Given the description of an element on the screen output the (x, y) to click on. 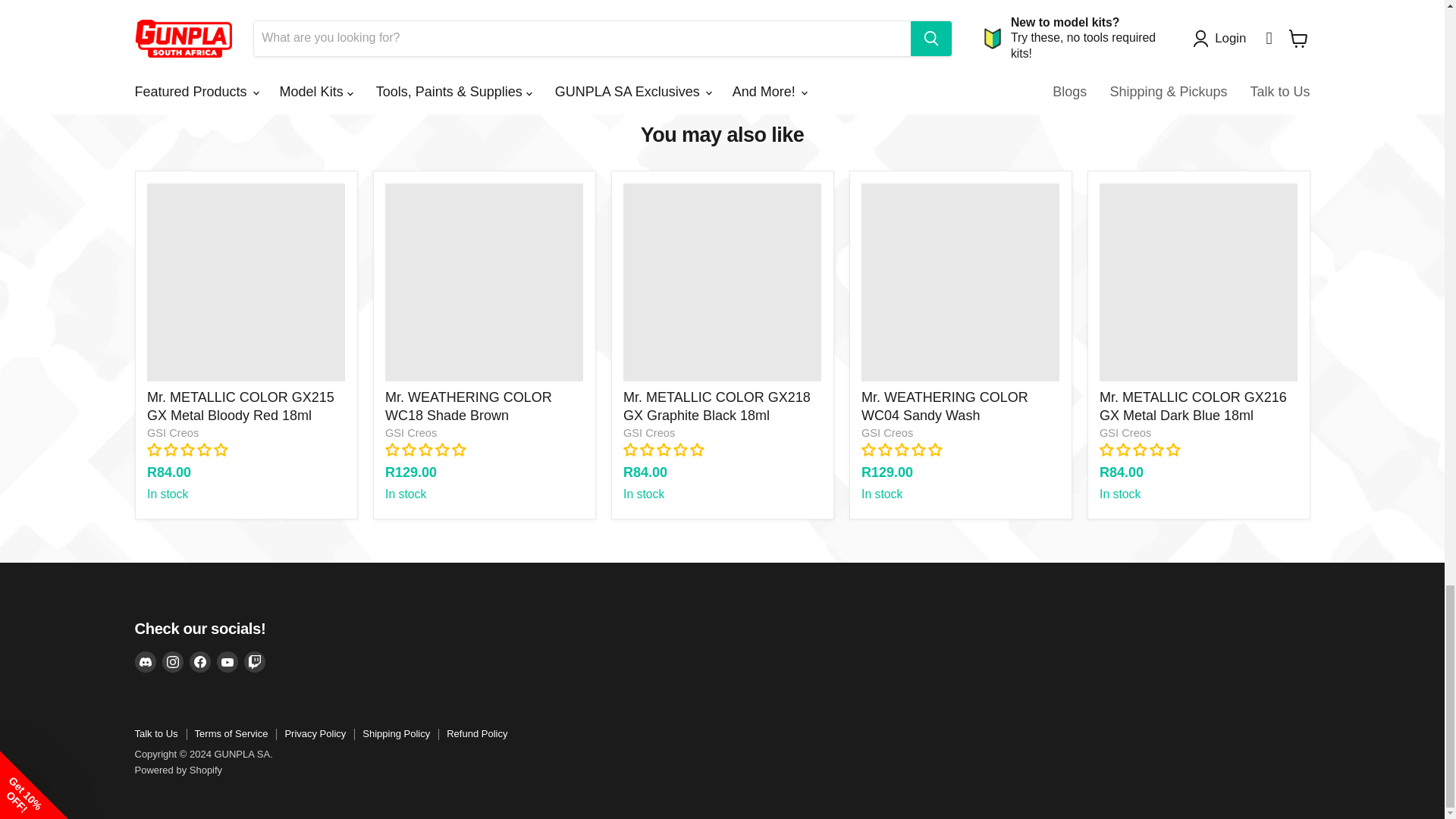
GSI Creos (172, 432)
GSI Creos (649, 432)
GSI Creos (410, 432)
